Given the description of an element on the screen output the (x, y) to click on. 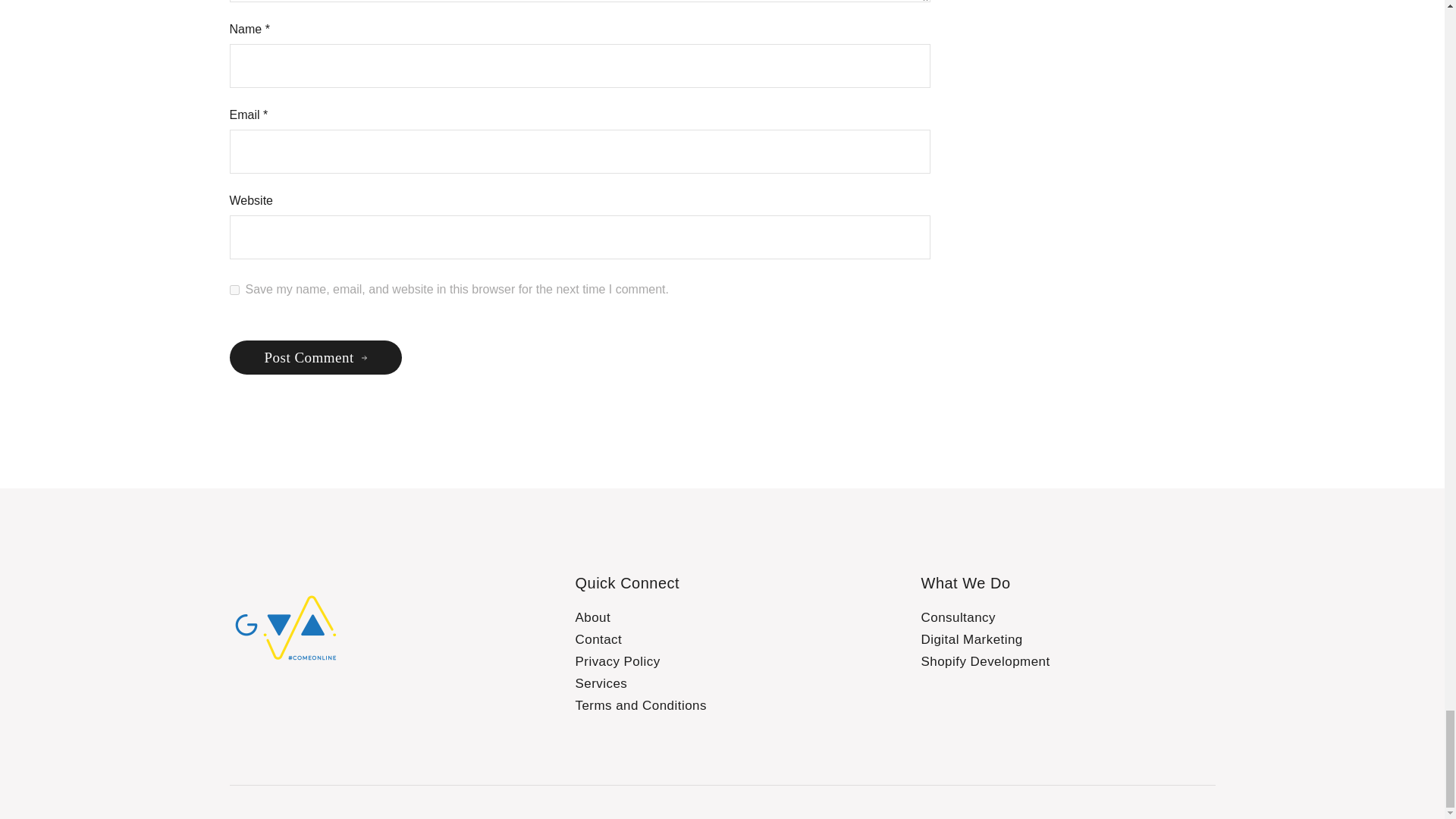
About (592, 617)
Services (601, 683)
Post Comment (314, 357)
Privacy Policy (617, 661)
Terms and Conditions (640, 705)
Digital Marketing (971, 639)
Contact (598, 639)
Shopify Development (984, 661)
Consultancy (957, 617)
